Given the description of an element on the screen output the (x, y) to click on. 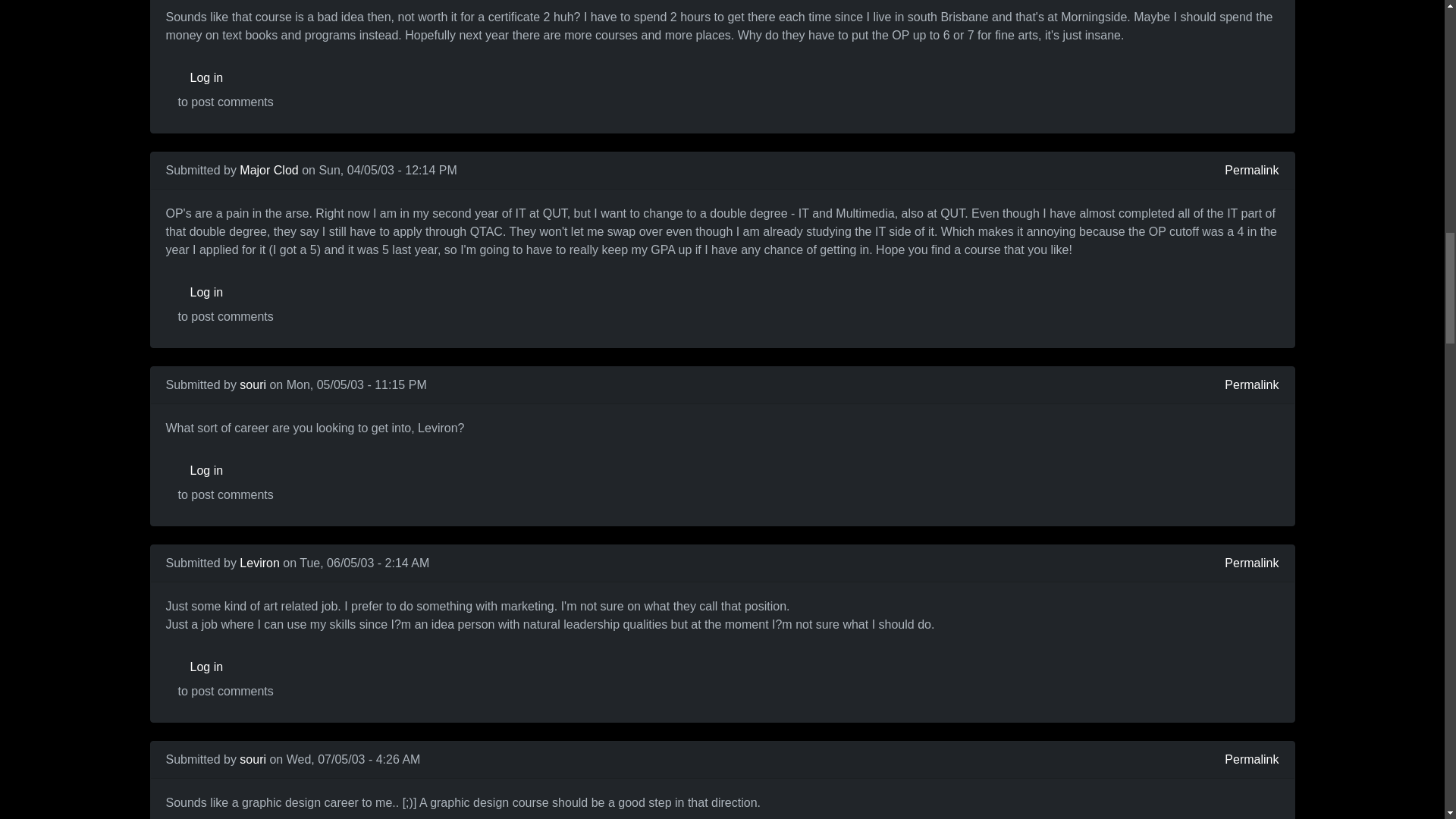
View user profile. (253, 758)
Log in (225, 292)
Permalink (1251, 170)
Major Clod (269, 169)
Log in (225, 78)
View user profile. (269, 169)
View user profile. (253, 384)
View user profile. (259, 562)
